Given the description of an element on the screen output the (x, y) to click on. 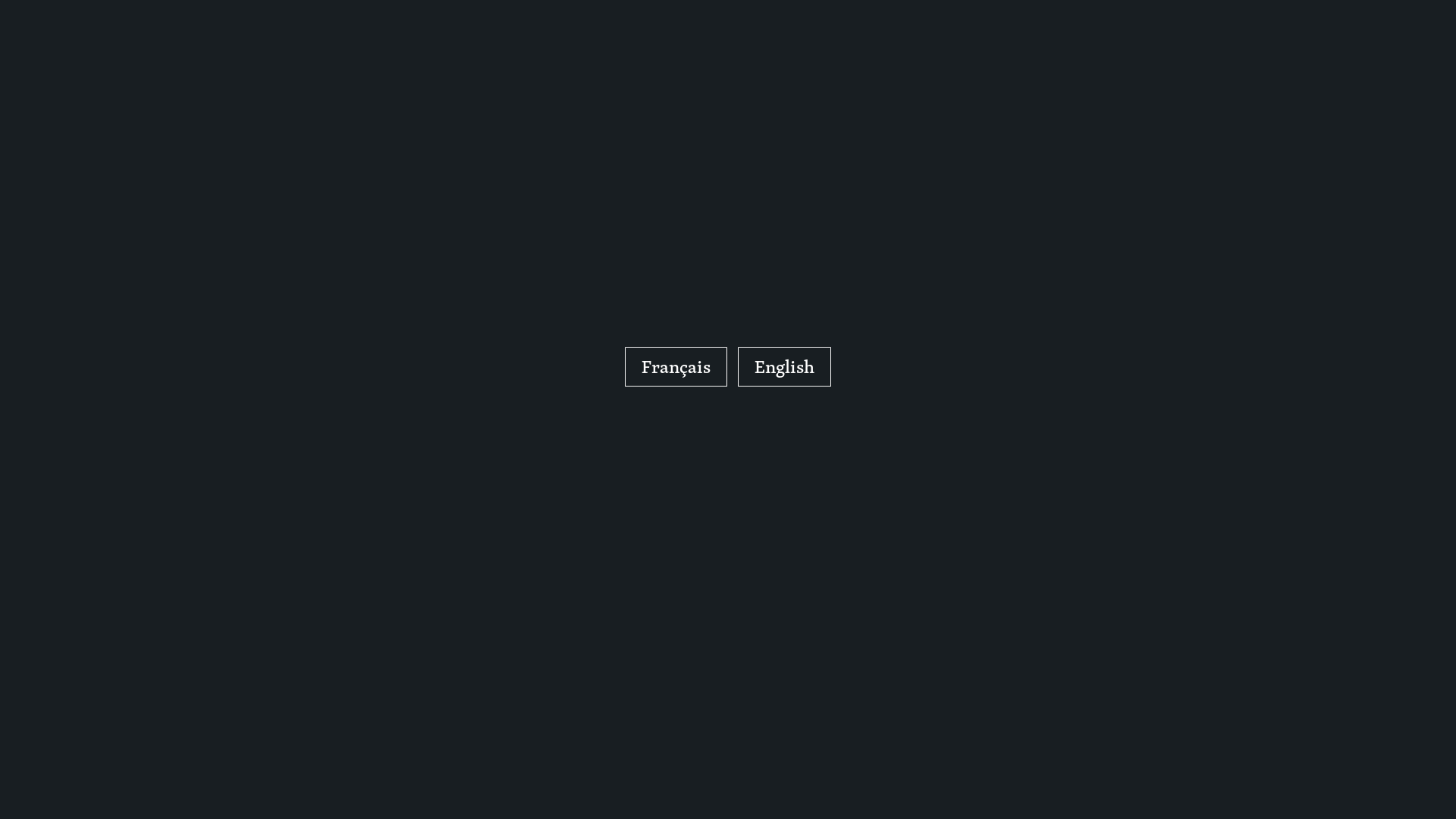
English Element type: text (784, 366)
